Given the description of an element on the screen output the (x, y) to click on. 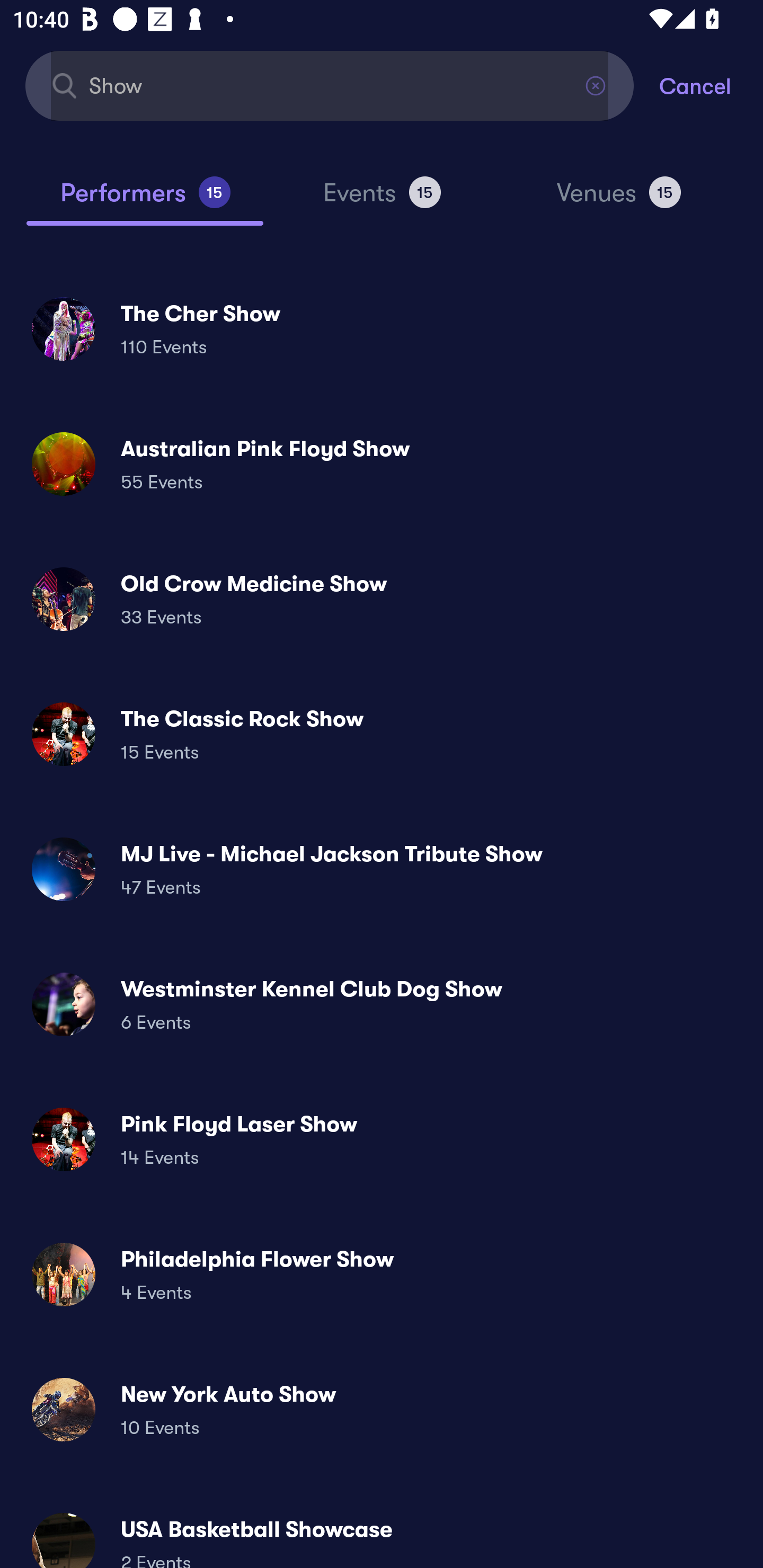
Show Find (329, 85)
Show Find (329, 85)
Cancel (711, 85)
Performers 15 (144, 200)
Events 15 (381, 200)
Venues 15 (618, 200)
The Cher Show 110 Events (381, 328)
Australian Pink Floyd Show 55 Events (381, 464)
Old Crow Medicine Show 33 Events (381, 598)
The Classic Rock Show 15 Events (381, 734)
MJ Live - Michael Jackson Tribute Show 47 Events (381, 869)
Westminster Kennel Club Dog Show 6 Events (381, 1004)
Pink Floyd Laser Show 14 Events (381, 1138)
Philadelphia Flower Show 4 Events (381, 1273)
New York Auto Show 10 Events (381, 1409)
USA Basketball Showcase 2 Events (381, 1532)
